Given the description of an element on the screen output the (x, y) to click on. 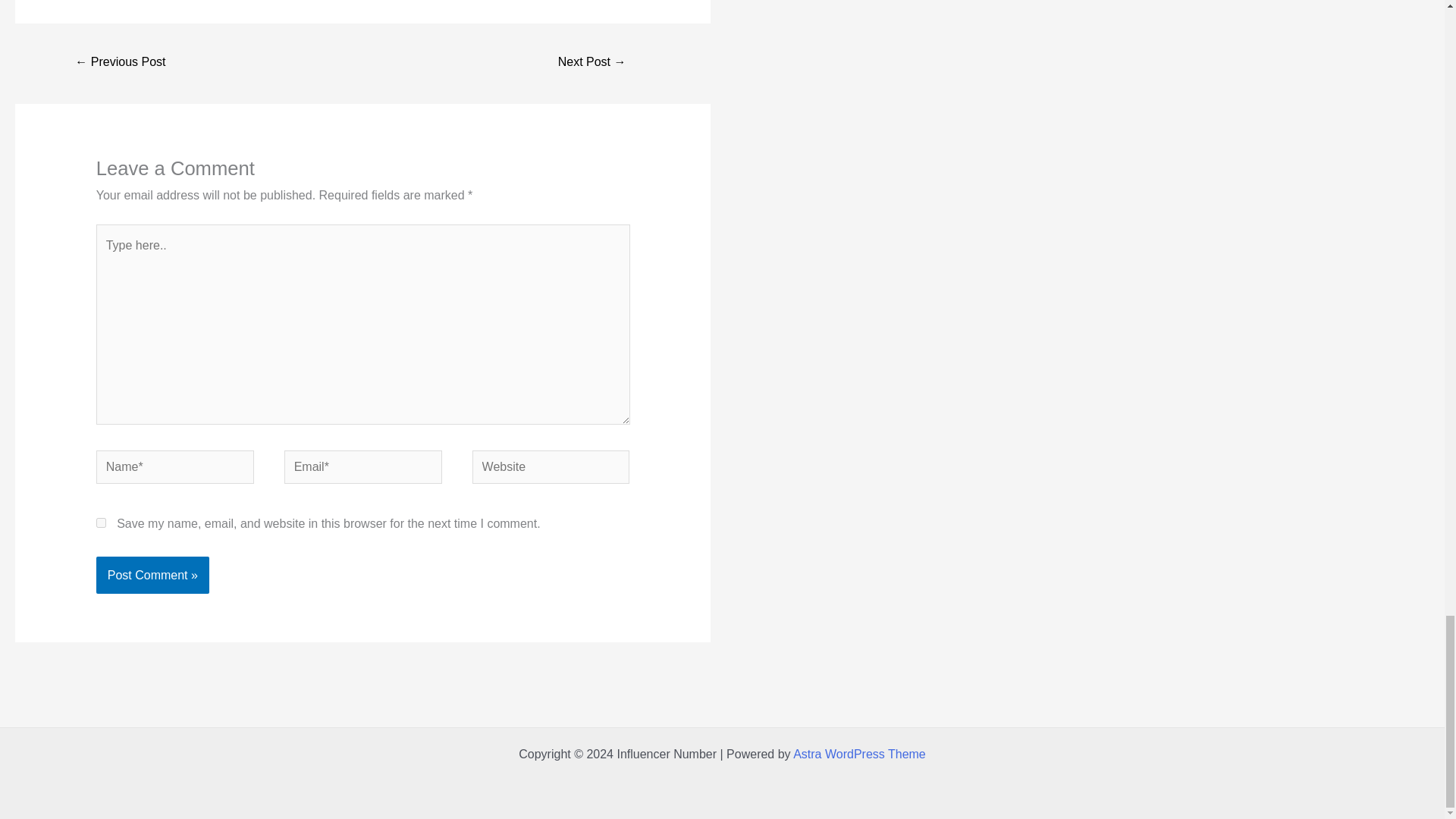
Astra WordPress Theme (859, 753)
yes (101, 522)
